Given the description of an element on the screen output the (x, y) to click on. 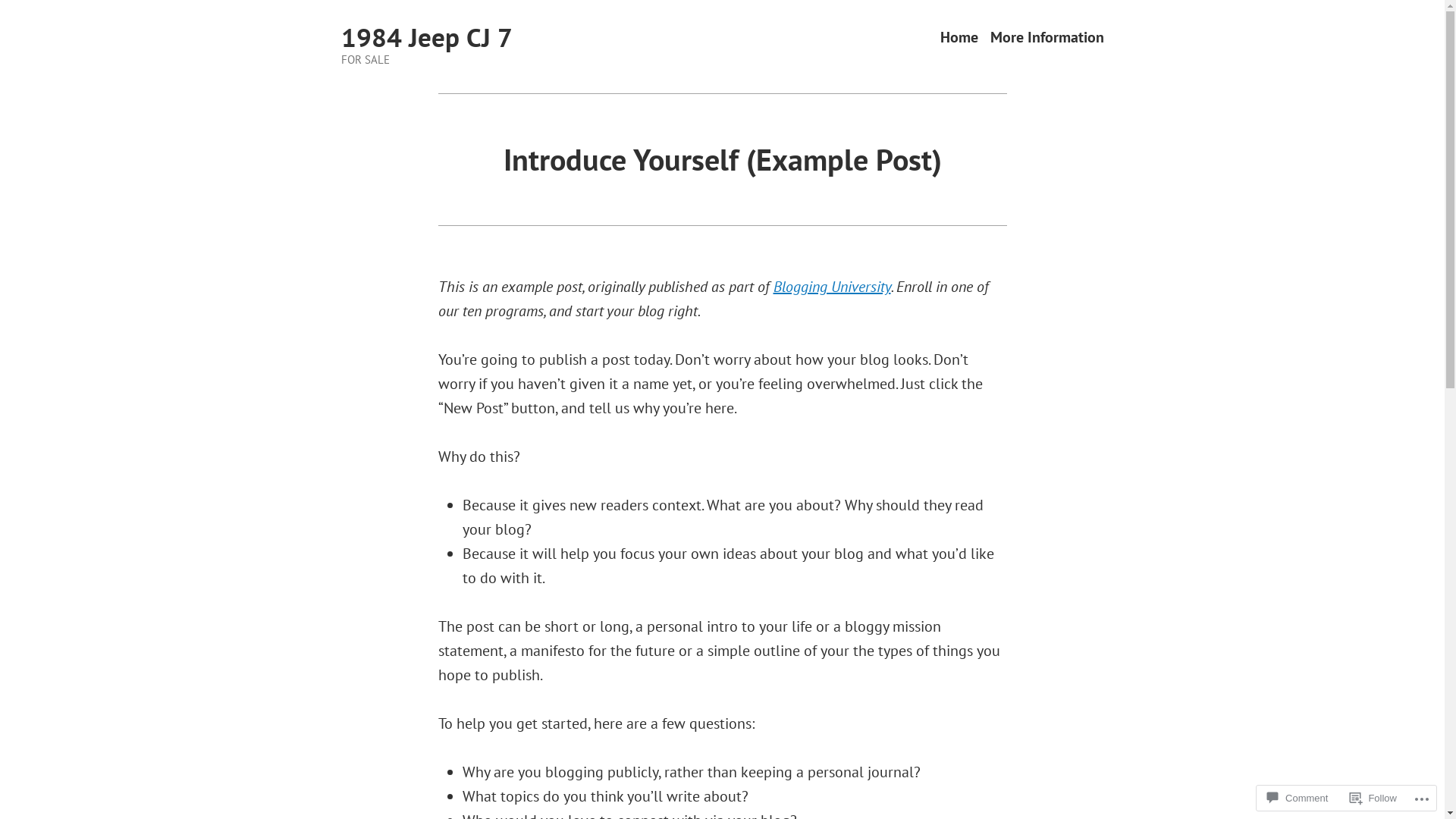
More Information Element type: text (1047, 37)
Comment Element type: text (1297, 797)
Home Element type: text (959, 37)
Blogging University Element type: text (832, 286)
Follow Element type: text (1372, 797)
1984 Jeep CJ 7 Element type: text (426, 36)
